Given the description of an element on the screen output the (x, y) to click on. 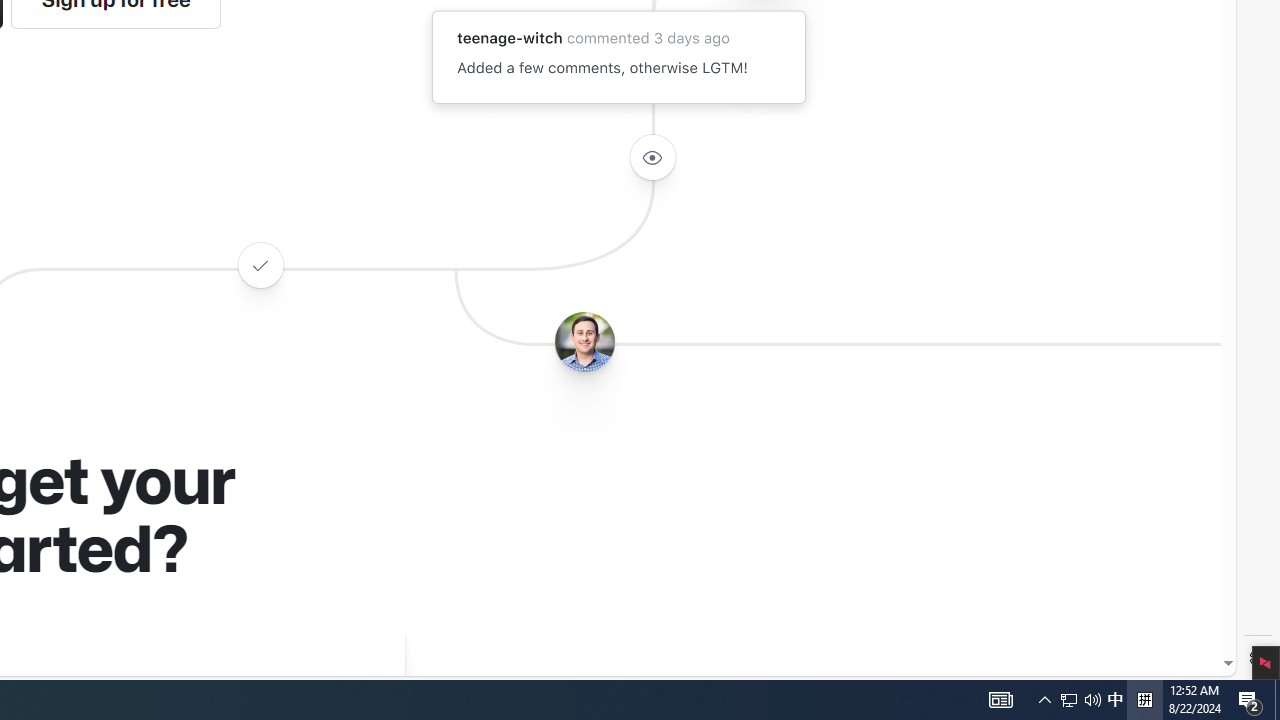
Avatar of the user benbalter (584, 341)
Class: color-fg-muted width-full (260, 264)
